Given the description of an element on the screen output the (x, y) to click on. 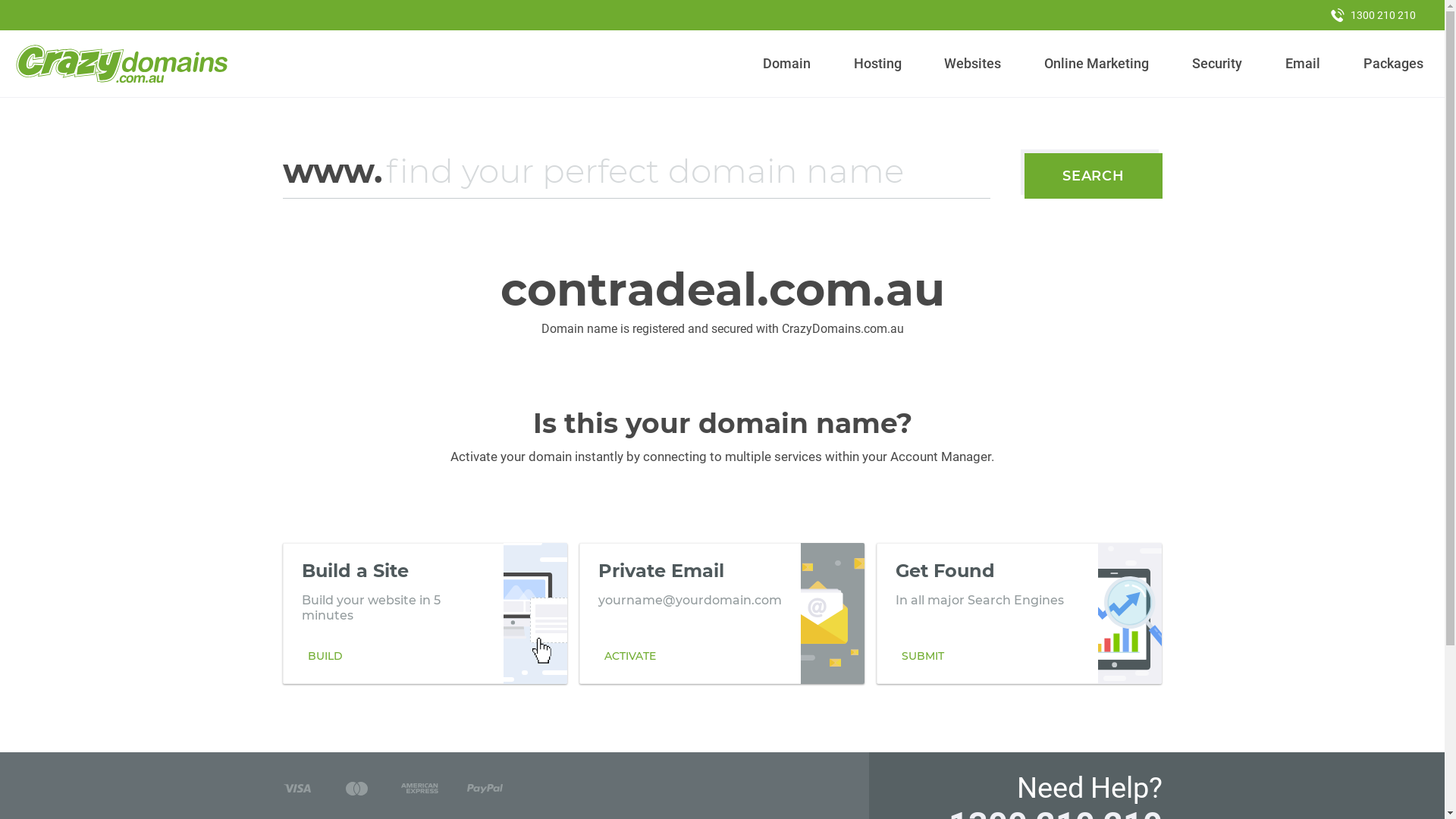
Websites Element type: text (972, 63)
Domain Element type: text (786, 63)
Packages Element type: text (1392, 63)
Build a Site
Build your website in 5 minutes
BUILD Element type: text (424, 613)
SEARCH Element type: text (1092, 175)
Security Element type: text (1217, 63)
Get Found
In all major Search Engines
SUBMIT Element type: text (1018, 613)
Private Email
yourname@yourdomain.com
ACTIVATE Element type: text (721, 613)
Hosting Element type: text (877, 63)
1300 210 210 Element type: text (1373, 15)
Email Element type: text (1302, 63)
Online Marketing Element type: text (1096, 63)
